Given the description of an element on the screen output the (x, y) to click on. 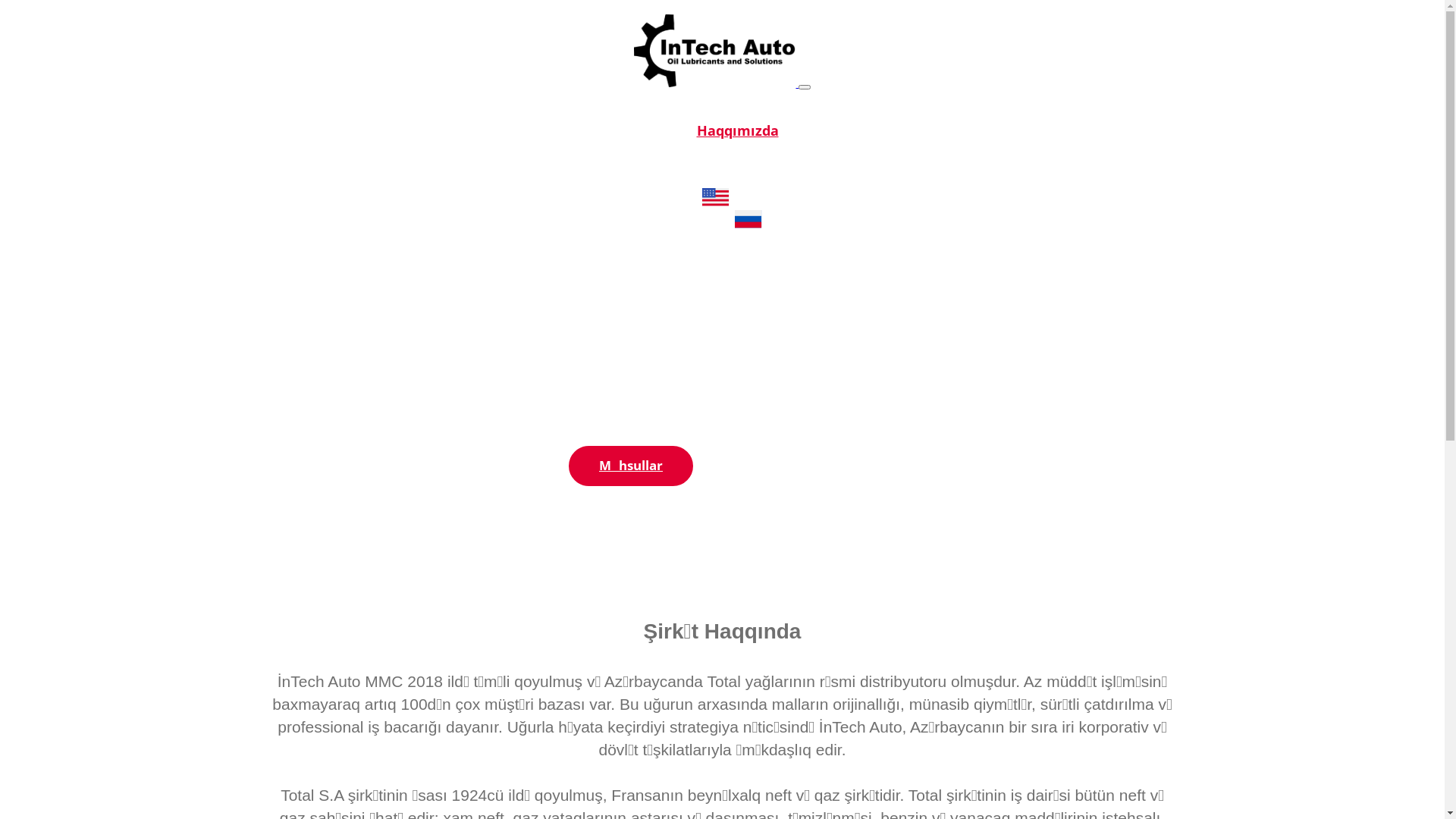
Kataloq Element type: text (737, 148)
(current) Element type: text (747, 200)
